Given the description of an element on the screen output the (x, y) to click on. 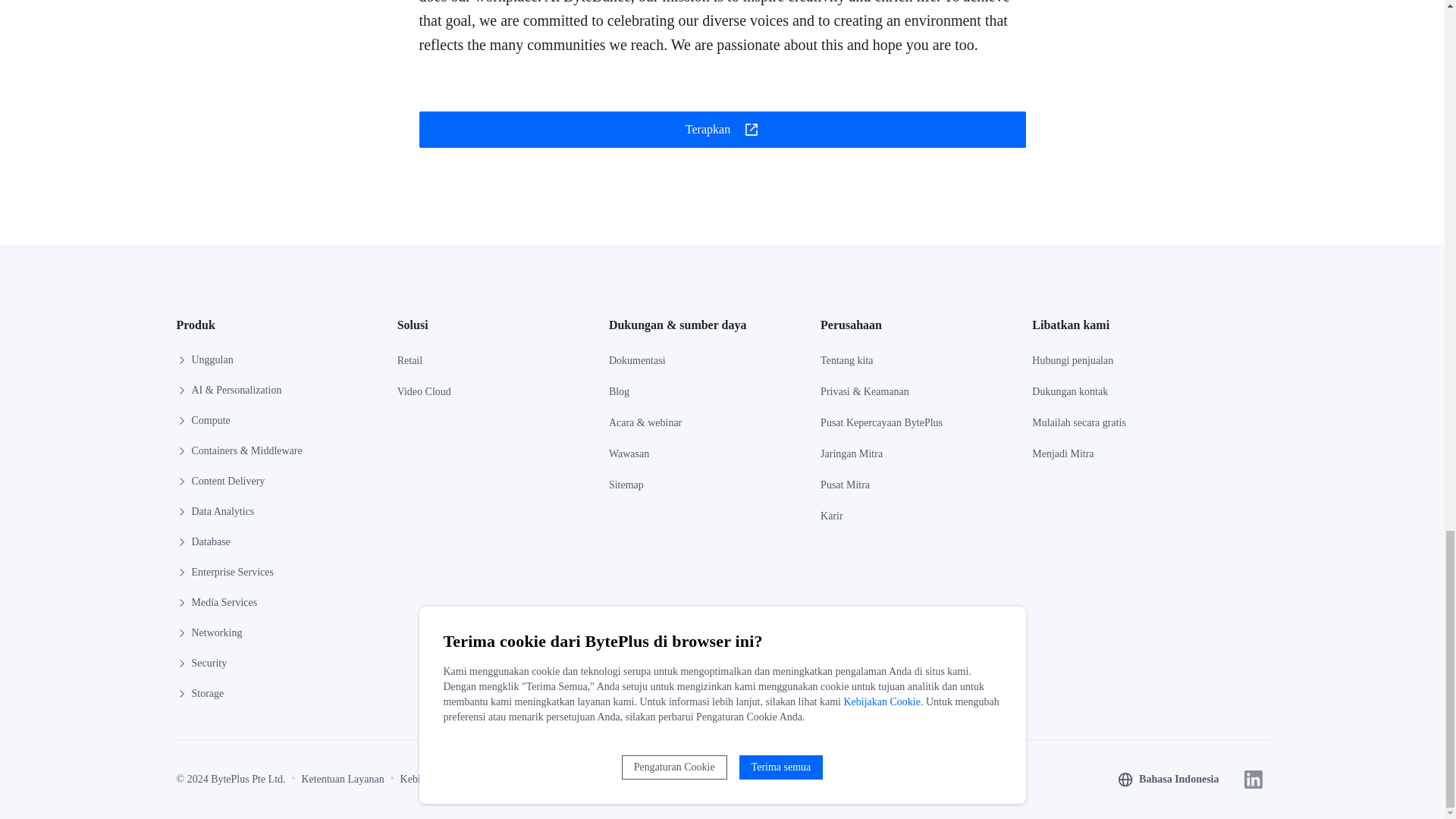
Dukungan kontak (1070, 391)
Sitemap (625, 485)
Mulailah secara gratis (1078, 422)
Dokumentasi (636, 360)
Wawasan (628, 453)
Hubungi penjualan (1072, 360)
Pusat Kepercayaan BytePlus (881, 422)
Video Cloud (424, 391)
Blog (618, 391)
Karir (832, 516)
Terapkan (722, 132)
Jaringan Mitra (851, 453)
Retail (409, 360)
Pusat Mitra (845, 485)
Tentang kita (846, 360)
